Given the description of an element on the screen output the (x, y) to click on. 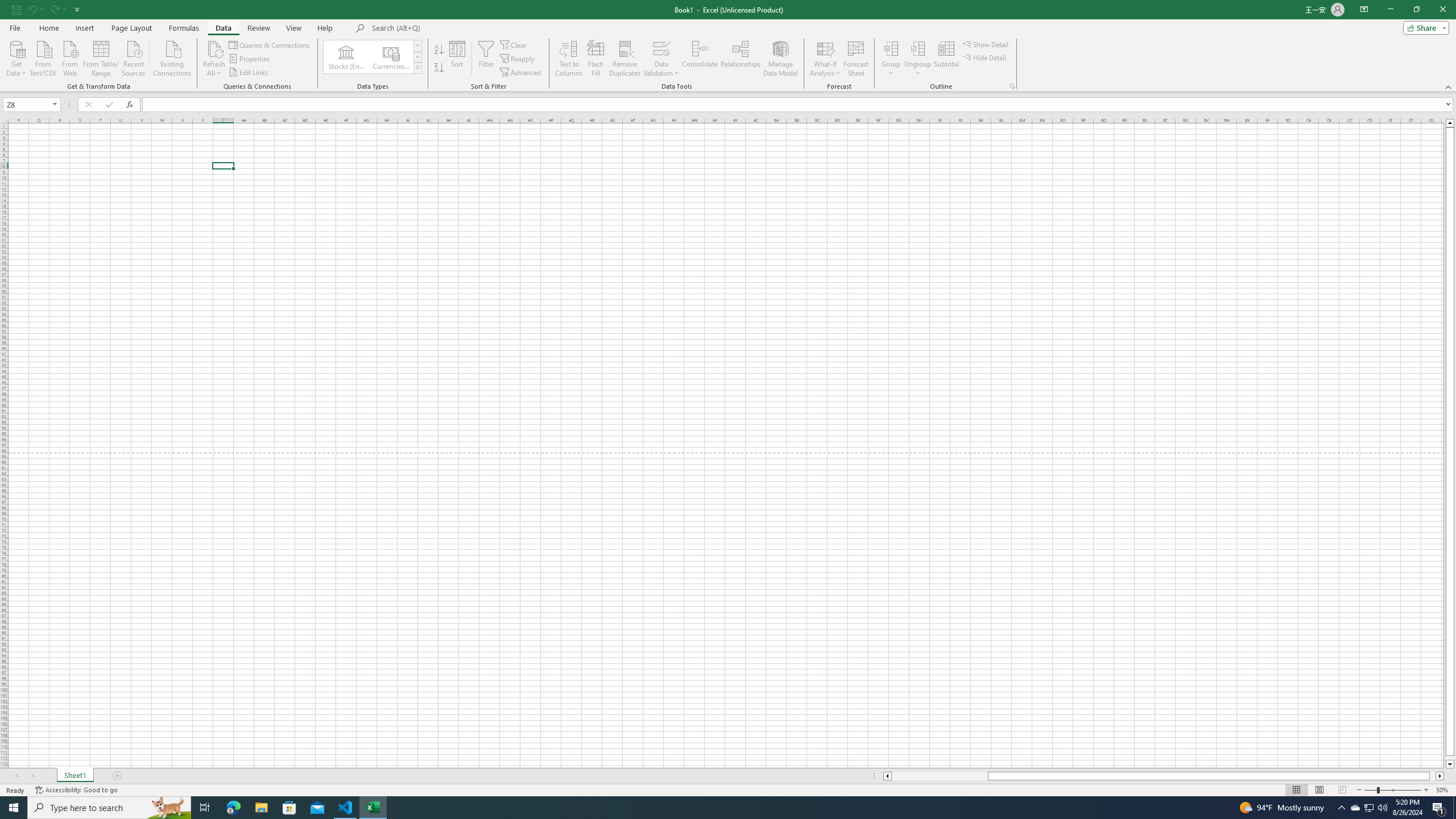
Data Validation... (661, 58)
Close (1442, 9)
Existing Connections (171, 57)
Sheet1 (74, 775)
Data Types (417, 67)
Flash Fill (595, 58)
Accessibility Checker Accessibility: Good to go (76, 790)
Ungroup... (917, 58)
Normal (1296, 790)
Zoom (1392, 790)
View (293, 28)
Zoom In (1426, 790)
Row Down (417, 56)
Text to Columns... (568, 58)
